Given the description of an element on the screen output the (x, y) to click on. 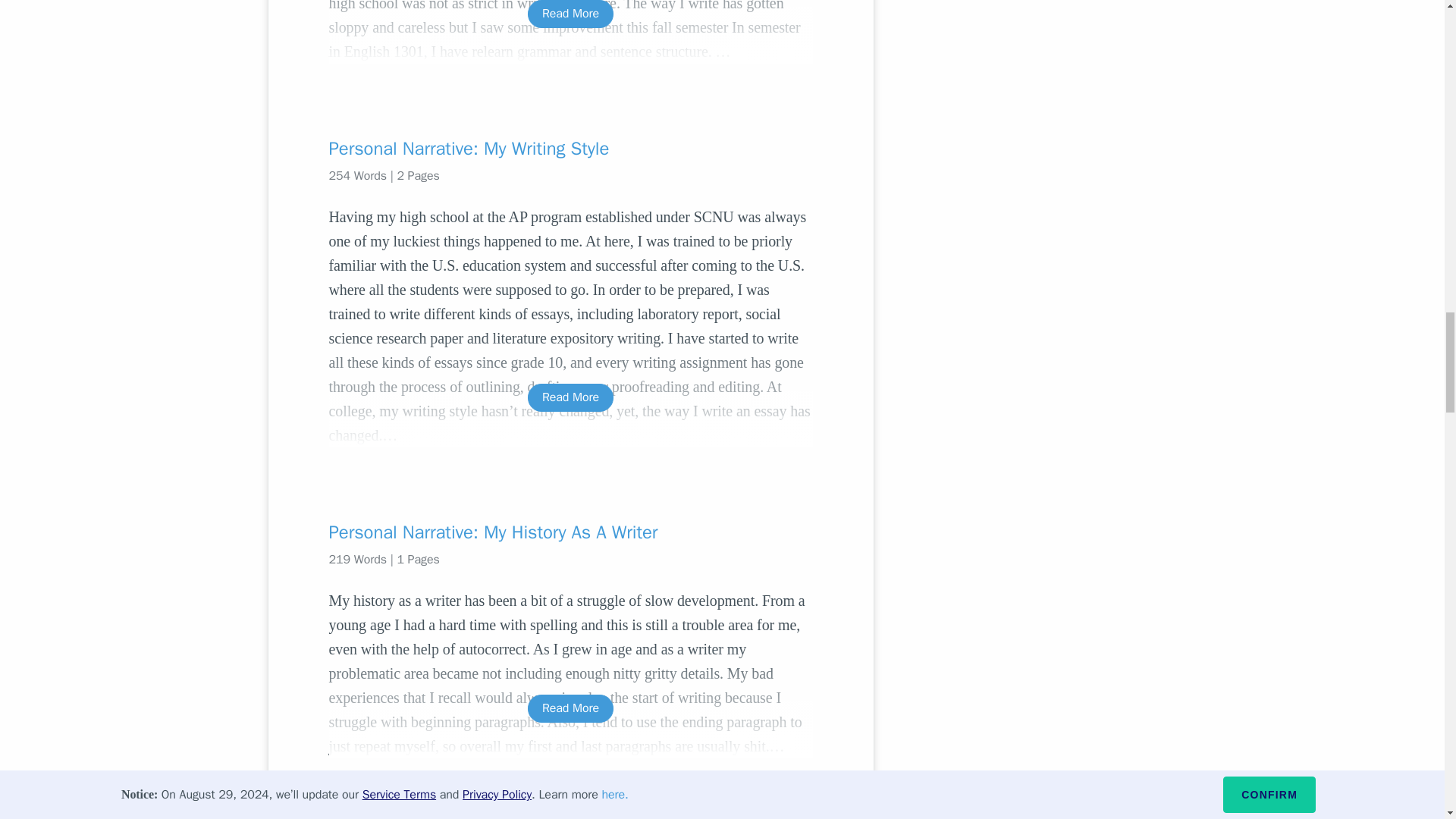
Read More (569, 13)
Read More (569, 708)
Personal Narrative: My Writing Style (570, 148)
Personal Narrative: My History As A Writer (570, 532)
Read More (569, 397)
